Given the description of an element on the screen output the (x, y) to click on. 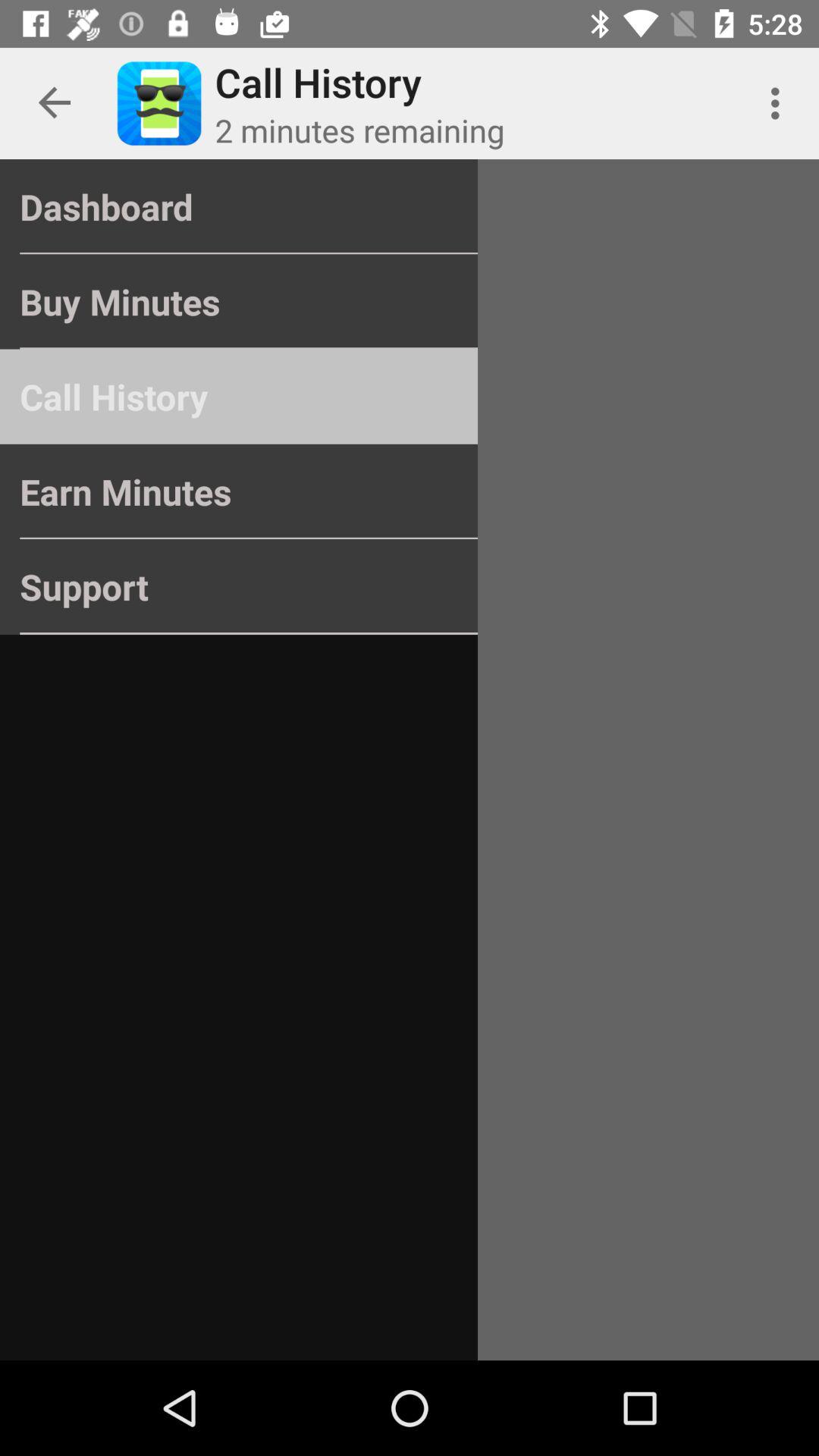
press icon below call history icon (238, 491)
